Given the description of an element on the screen output the (x, y) to click on. 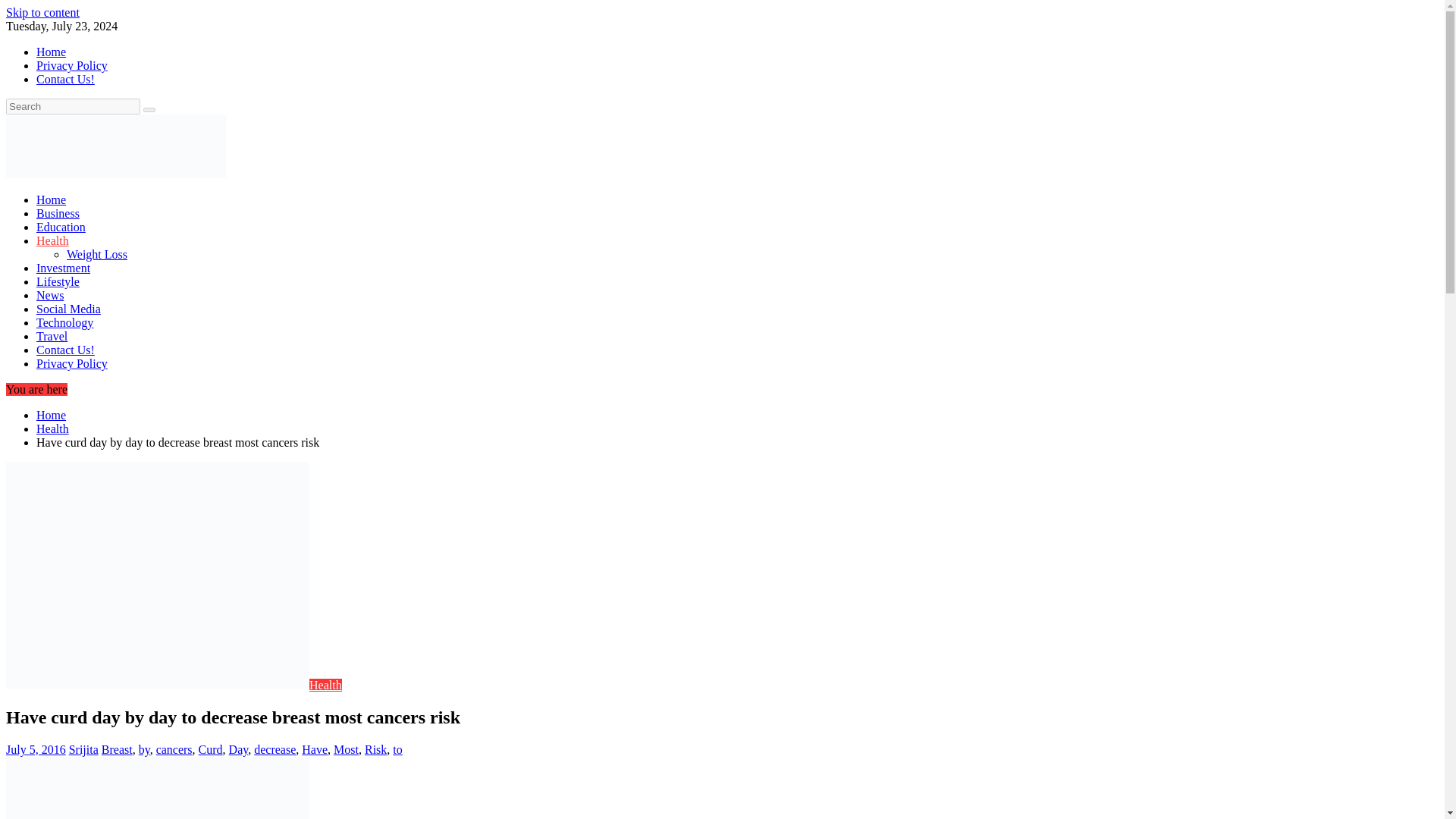
link (42, 11)
Privacy Policy (71, 65)
Risk (376, 748)
Home (50, 199)
Day (238, 748)
Technology (64, 322)
Skip to content (42, 11)
July 5, 2016 (35, 748)
Home (50, 51)
Lifestyle (58, 281)
News (50, 295)
Contact Us! (65, 349)
Contact Us! (65, 78)
cancers (173, 748)
Most (345, 748)
